Given the description of an element on the screen output the (x, y) to click on. 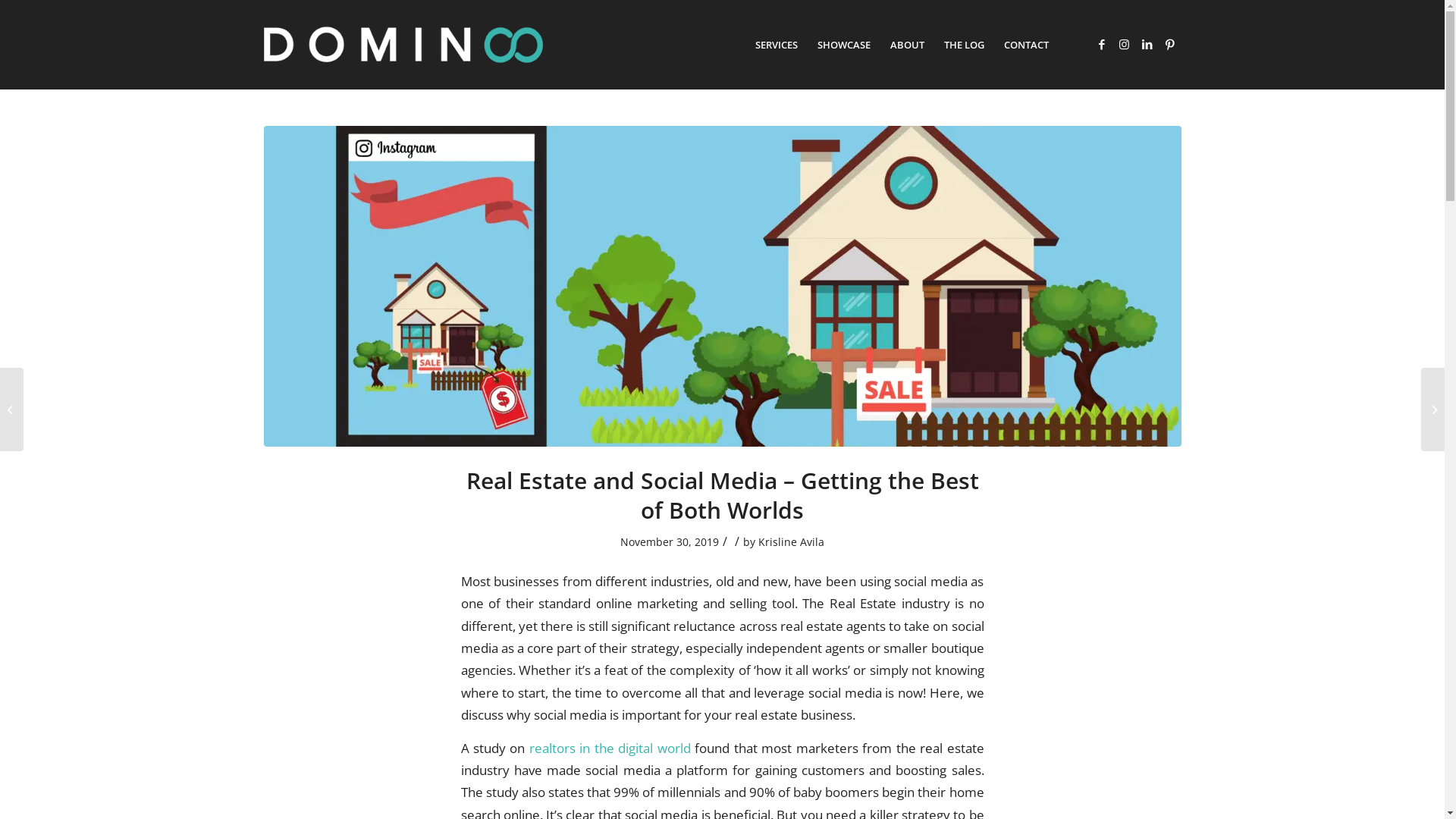
Instagram Element type: hover (1124, 43)
Pinterest Element type: hover (1169, 43)
Real Estate Element type: hover (722, 285)
ABOUT Element type: text (906, 44)
realtors in the digital world Element type: text (609, 747)
SERVICES Element type: text (775, 44)
Krisline Avila Element type: text (791, 541)
CONTACT Element type: text (1025, 44)
LinkedIn Element type: hover (1146, 43)
SHOWCASE Element type: text (842, 44)
THE LOG Element type: text (964, 44)
domin8-logo-white-teal Element type: hover (402, 44)
Facebook Element type: hover (1101, 43)
